Given the description of an element on the screen output the (x, y) to click on. 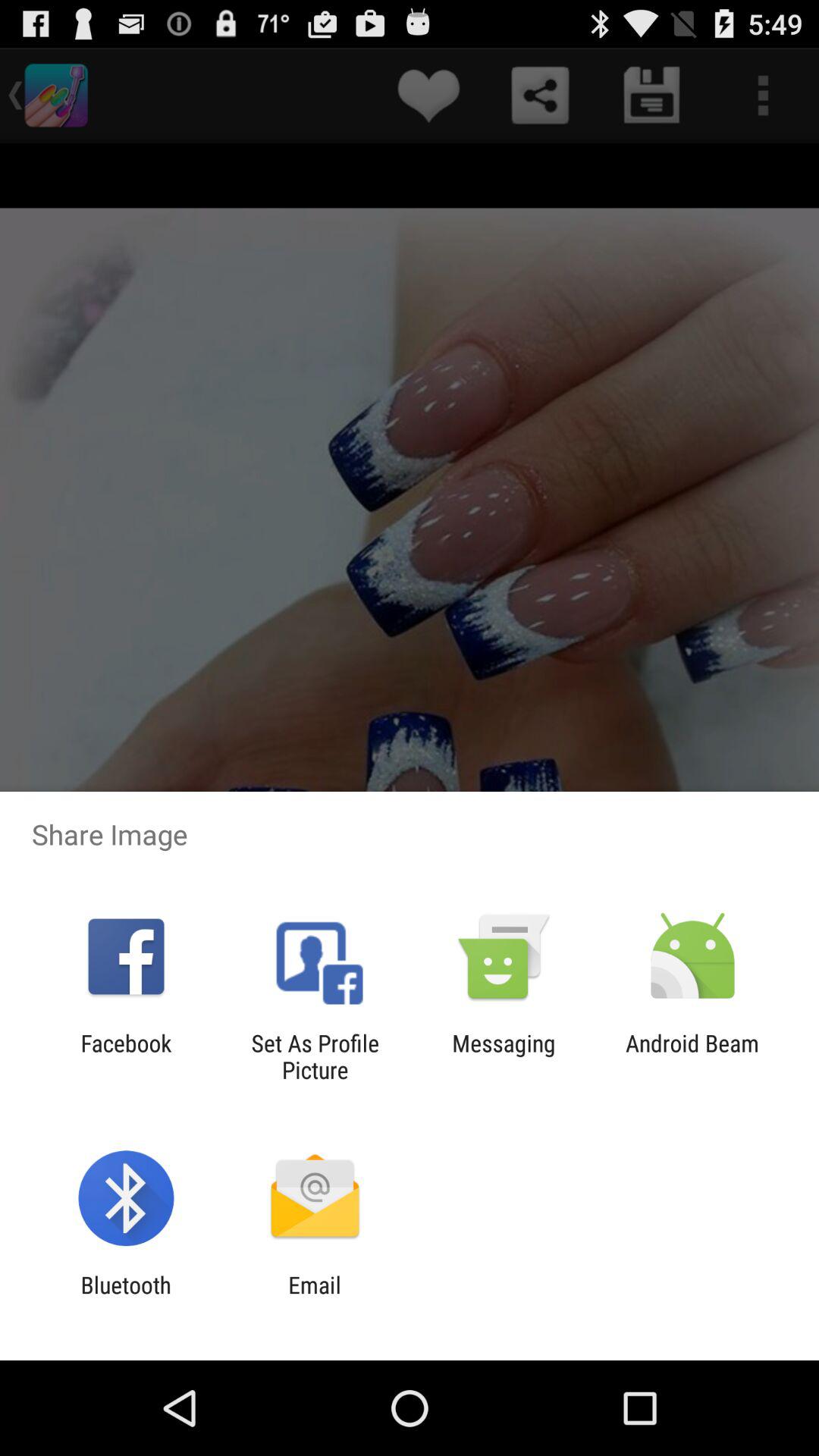
launch the item to the right of messaging (692, 1056)
